Given the description of an element on the screen output the (x, y) to click on. 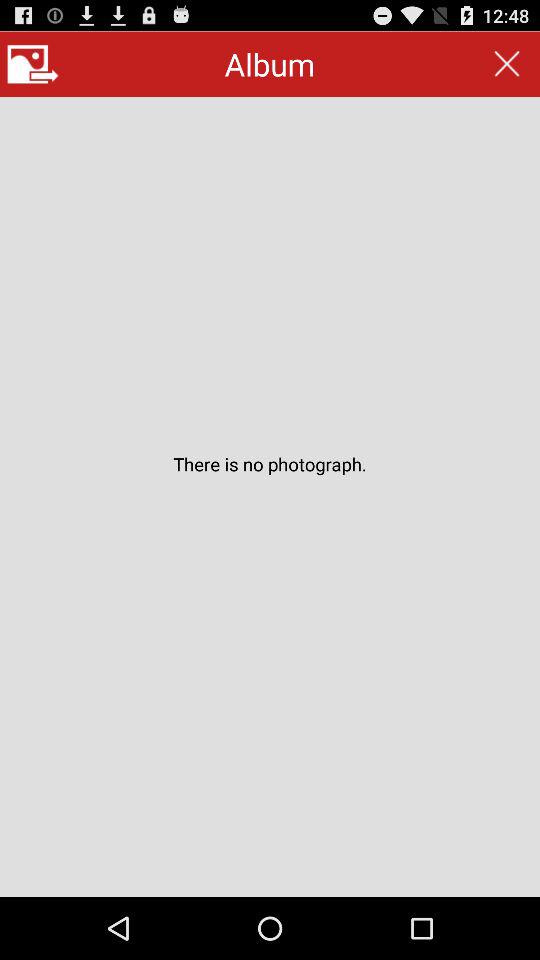
turn on item at the top right corner (506, 64)
